Given the description of an element on the screen output the (x, y) to click on. 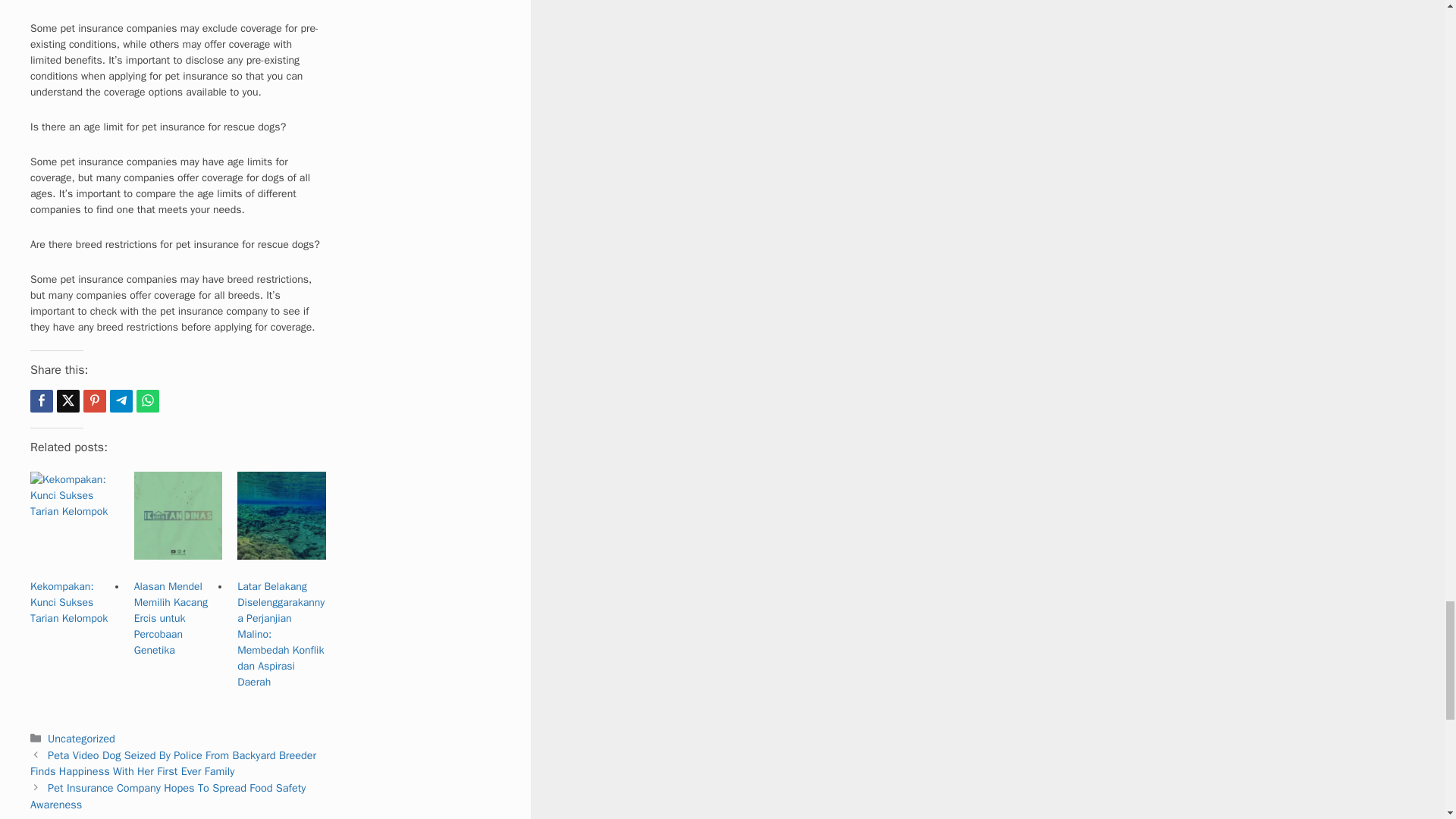
Uncategorized (81, 738)
Alasan Mendel Memilih Kacang Ercis untuk Percobaan Genetika (170, 617)
Kekompakan: Kunci Sukses Tarian Kelompok (68, 601)
Pet Insurance Company Hopes To Spread Food Safety Awareness (167, 796)
